Given the description of an element on the screen output the (x, y) to click on. 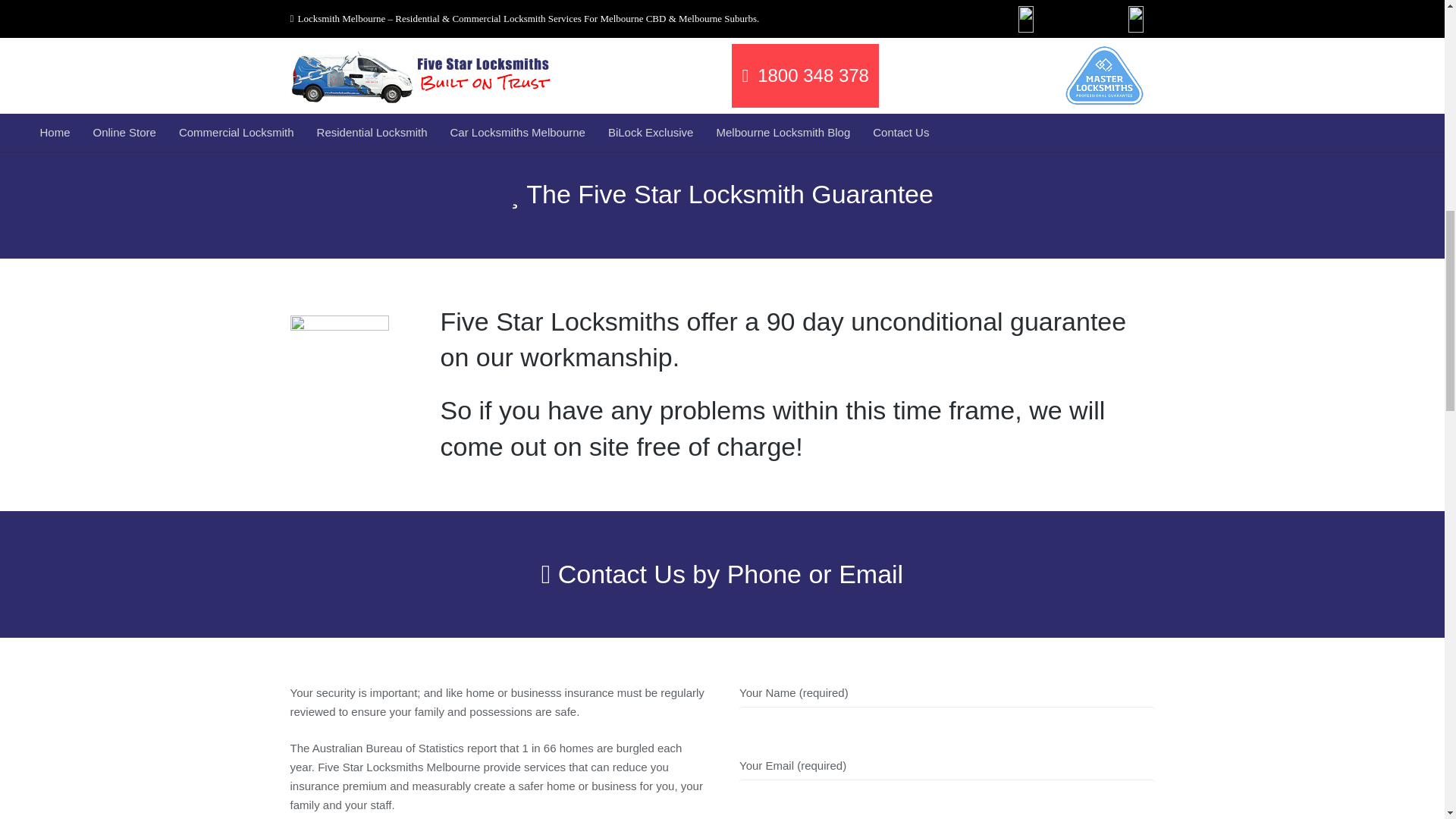
Click to Call Now (721, 78)
Back to top (1413, 26)
